Given the description of an element on the screen output the (x, y) to click on. 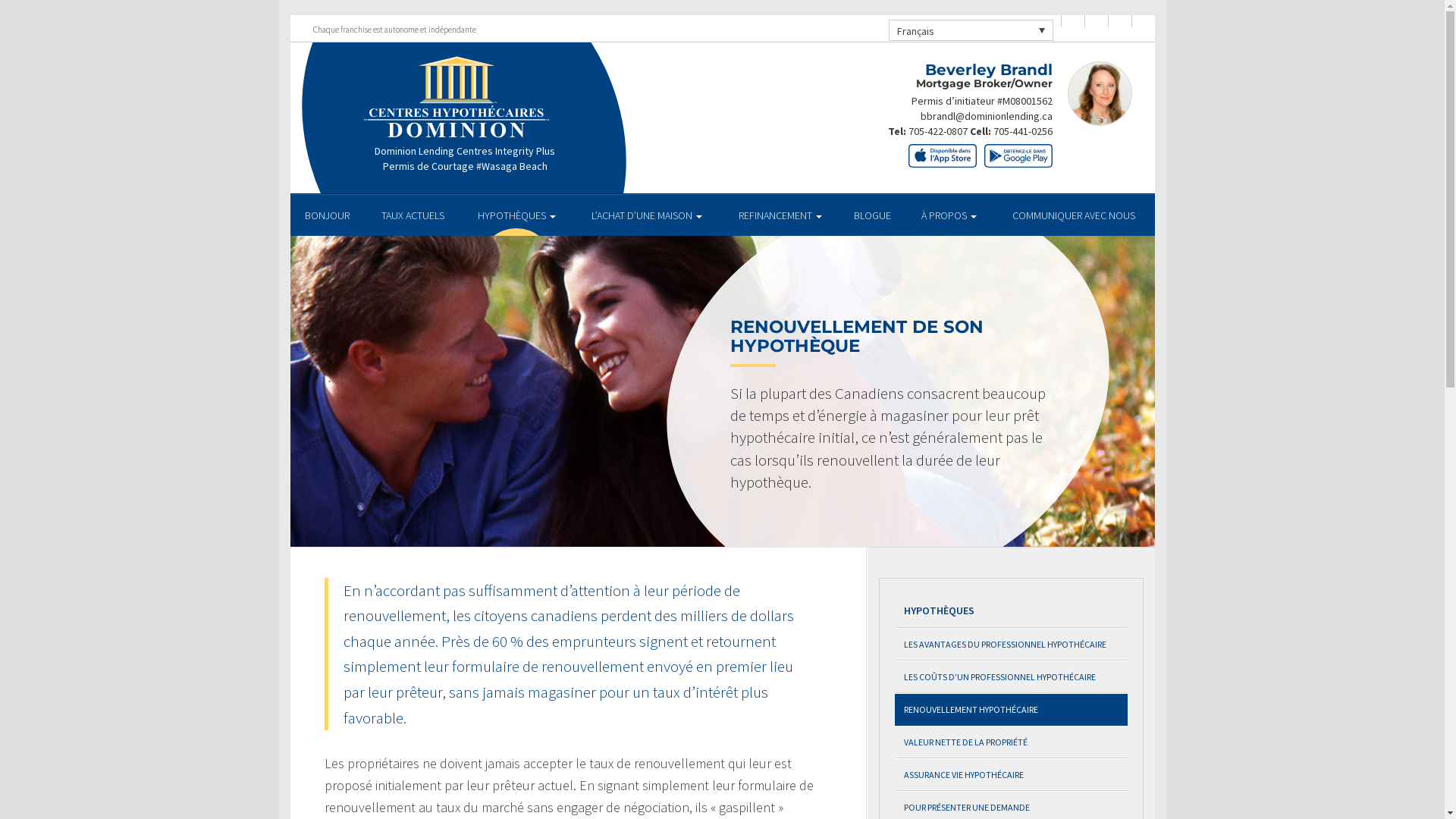
REFINANCEMENT Element type: text (780, 214)
705-422-0807 Element type: text (938, 131)
705-441-0256 Element type: text (1022, 131)
bbrandl@dominionlending.ca Element type: text (986, 115)
BLOGUE Element type: text (872, 214)
TAUX ACTUELS Element type: text (412, 214)
COMMUNIQUER AVEC NOUS Element type: text (1073, 214)
BONJOUR Element type: text (326, 214)
